Given the description of an element on the screen output the (x, y) to click on. 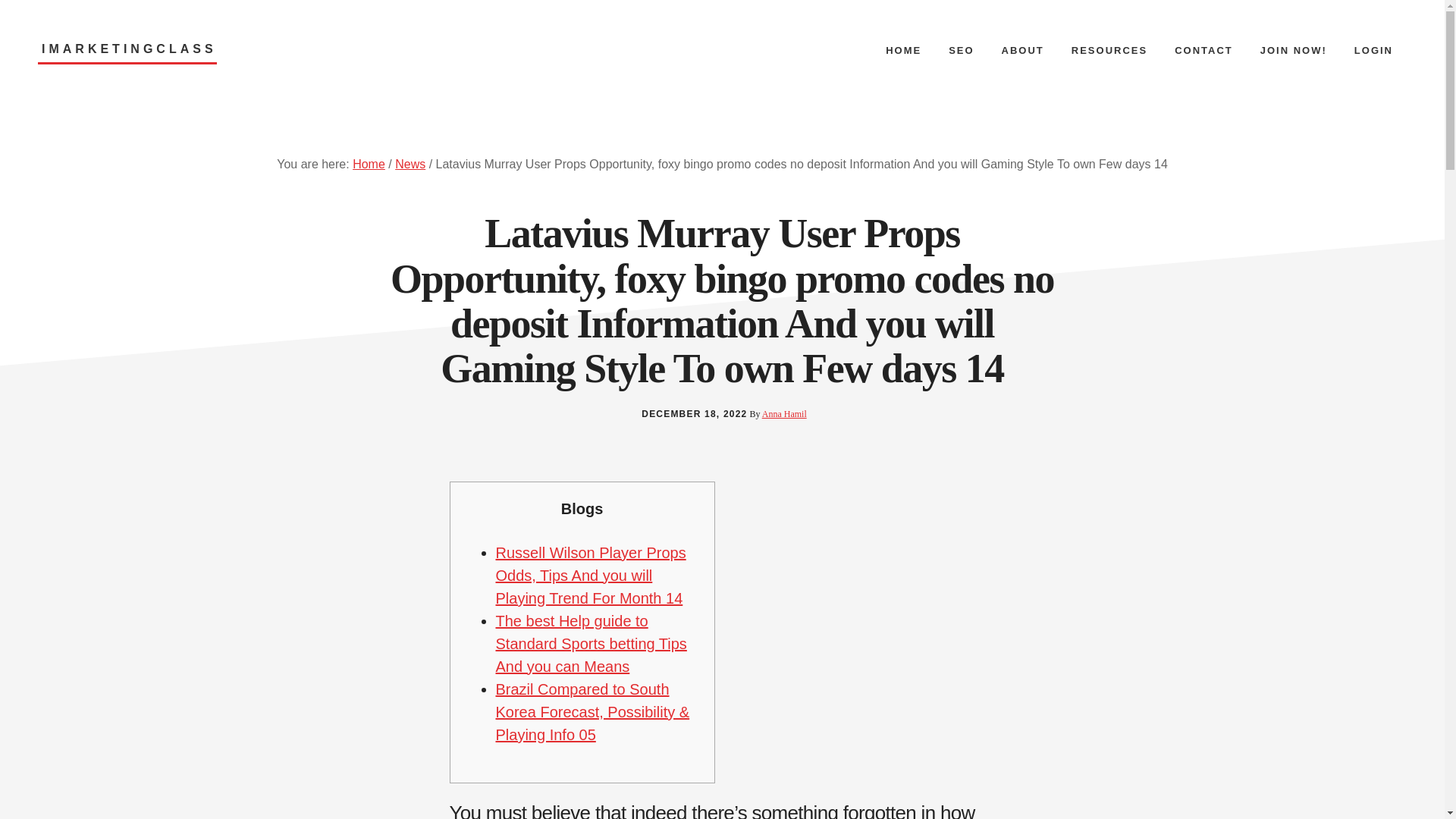
ABOUT (1023, 50)
SEO (960, 50)
Home (368, 164)
IMARKETINGCLASS (126, 52)
News (409, 164)
HOME (903, 50)
CONTACT (1203, 50)
JOIN NOW! (1293, 50)
RESOURCES (1109, 50)
Anna Hamil (783, 413)
LOGIN (1373, 50)
